Given the description of an element on the screen output the (x, y) to click on. 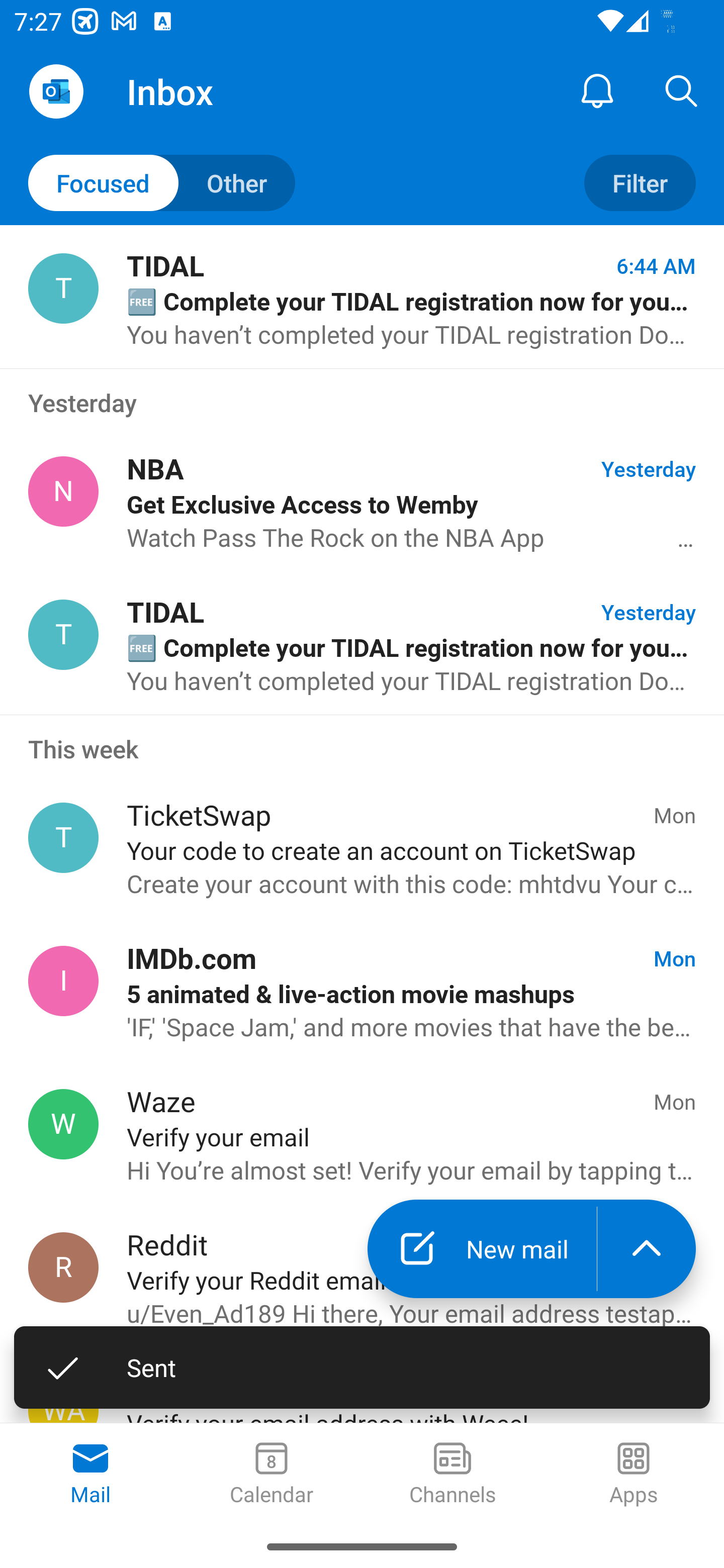
Notification Center (597, 90)
Search, ,  (681, 90)
Open Navigation Drawer (55, 91)
Toggle to other mails (161, 183)
Filter (639, 183)
TIDAL, hello@email.tidal.com (63, 288)
NBA, NBA@email.nba.com (63, 491)
TIDAL, hello@email.tidal.com (63, 633)
TicketSwap, info@ticketswap.com (63, 837)
IMDb.com, do-not-reply@imdb.com (63, 980)
Waze, noreply@waze.com (63, 1123)
New mail (481, 1248)
launch the extended action menu (646, 1248)
Reddit, noreply@reddit.com (63, 1267)
Calendar (271, 1474)
Channels (452, 1474)
Apps (633, 1474)
